Given the description of an element on the screen output the (x, y) to click on. 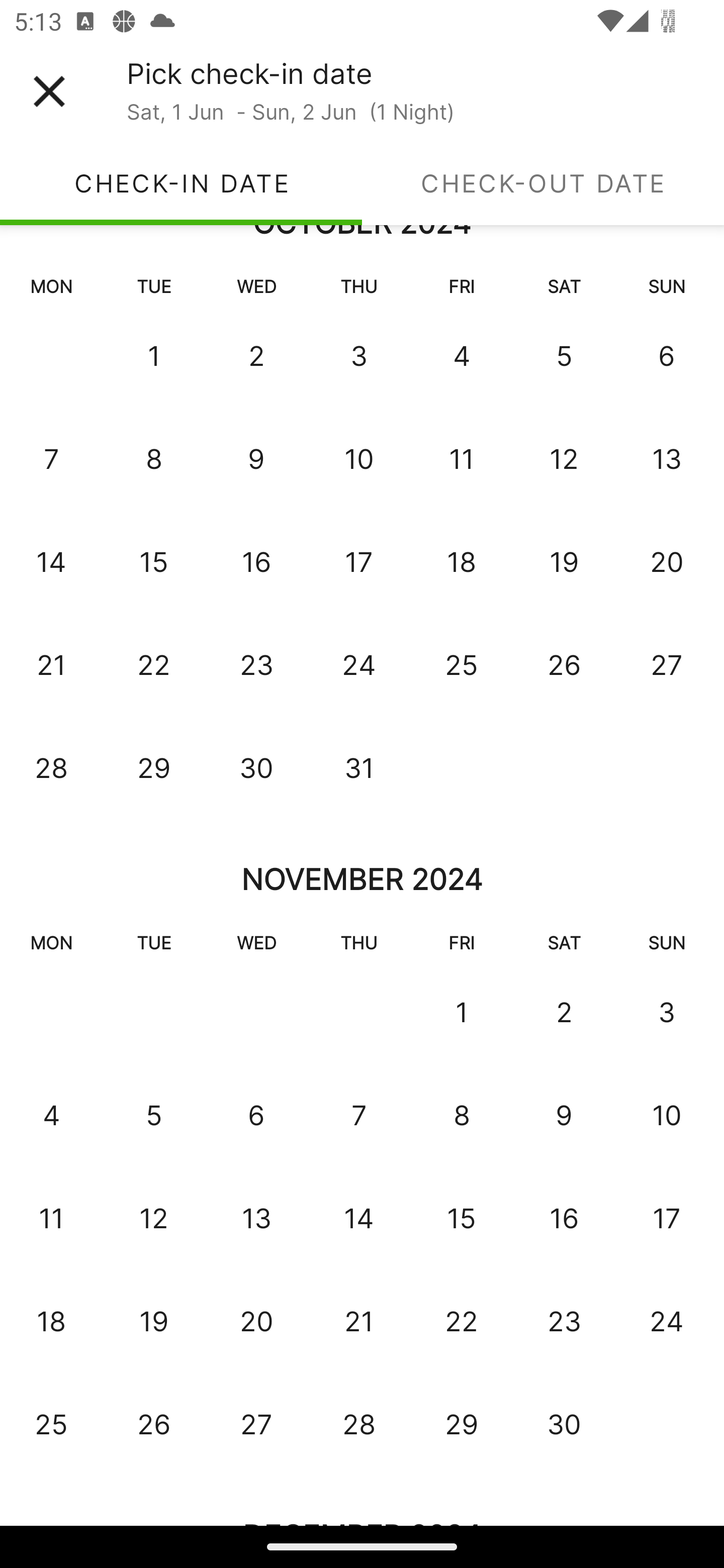
Check-out Date CHECK-OUT DATE (543, 183)
